Given the description of an element on the screen output the (x, y) to click on. 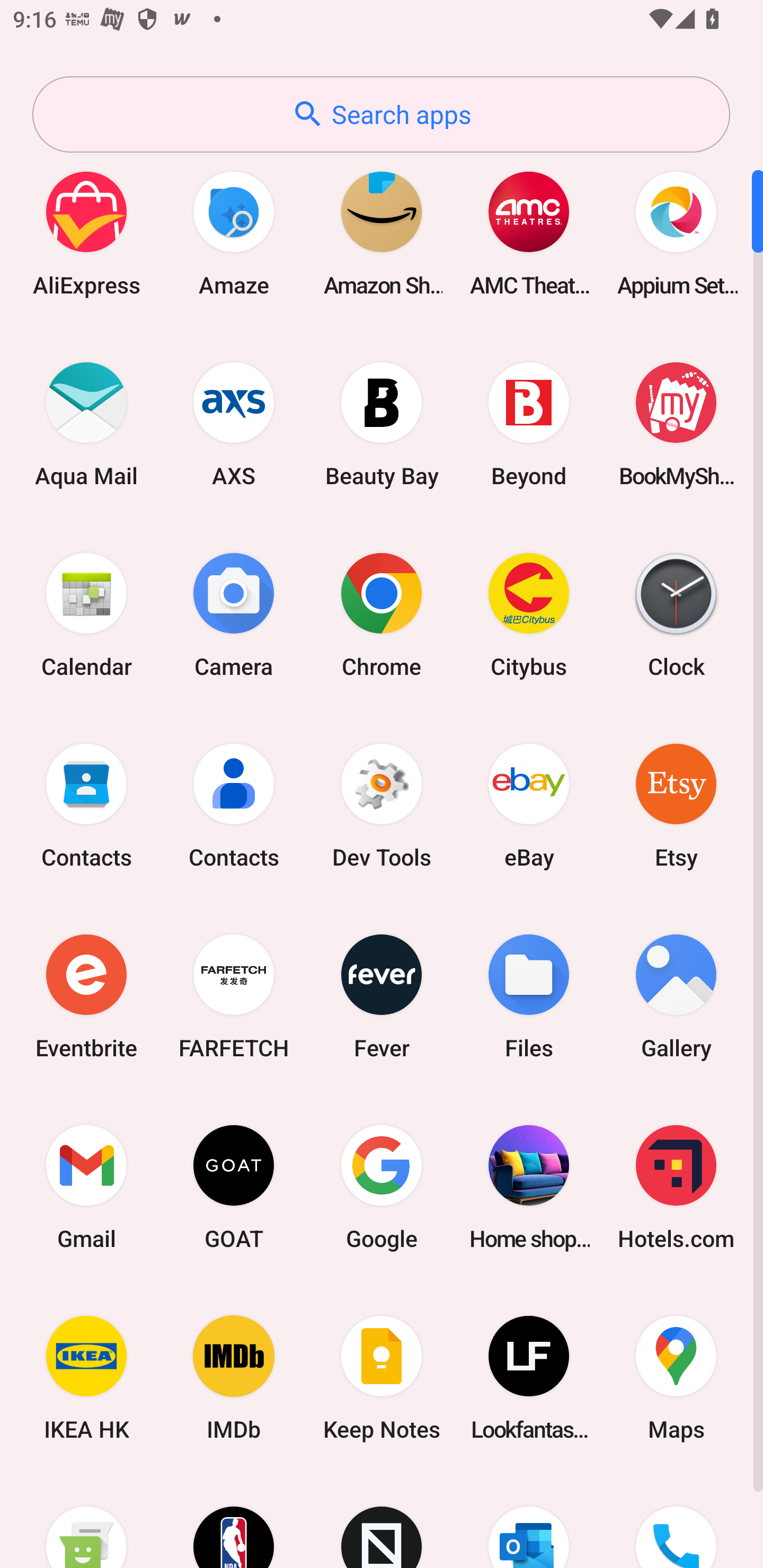
  Search apps (381, 114)
AliExpress (86, 233)
Amaze (233, 233)
Amazon Shopping (381, 233)
AMC Theatres (528, 233)
Appium Settings (676, 233)
Aqua Mail (86, 424)
AXS (233, 424)
Beauty Bay (381, 424)
Beyond (528, 424)
BookMyShow (676, 424)
Calendar (86, 614)
Camera (233, 614)
Chrome (381, 614)
Citybus (528, 614)
Clock (676, 614)
Contacts (86, 805)
Contacts (233, 805)
Dev Tools (381, 805)
eBay (528, 805)
Etsy (676, 805)
Eventbrite (86, 996)
FARFETCH (233, 996)
Fever (381, 996)
Files (528, 996)
Gallery (676, 996)
Gmail (86, 1186)
GOAT (233, 1186)
Google (381, 1186)
Home shopping (528, 1186)
Hotels.com (676, 1186)
IKEA HK (86, 1377)
IMDb (233, 1377)
Keep Notes (381, 1377)
Lookfantastic (528, 1377)
Maps (676, 1377)
